Given the description of an element on the screen output the (x, y) to click on. 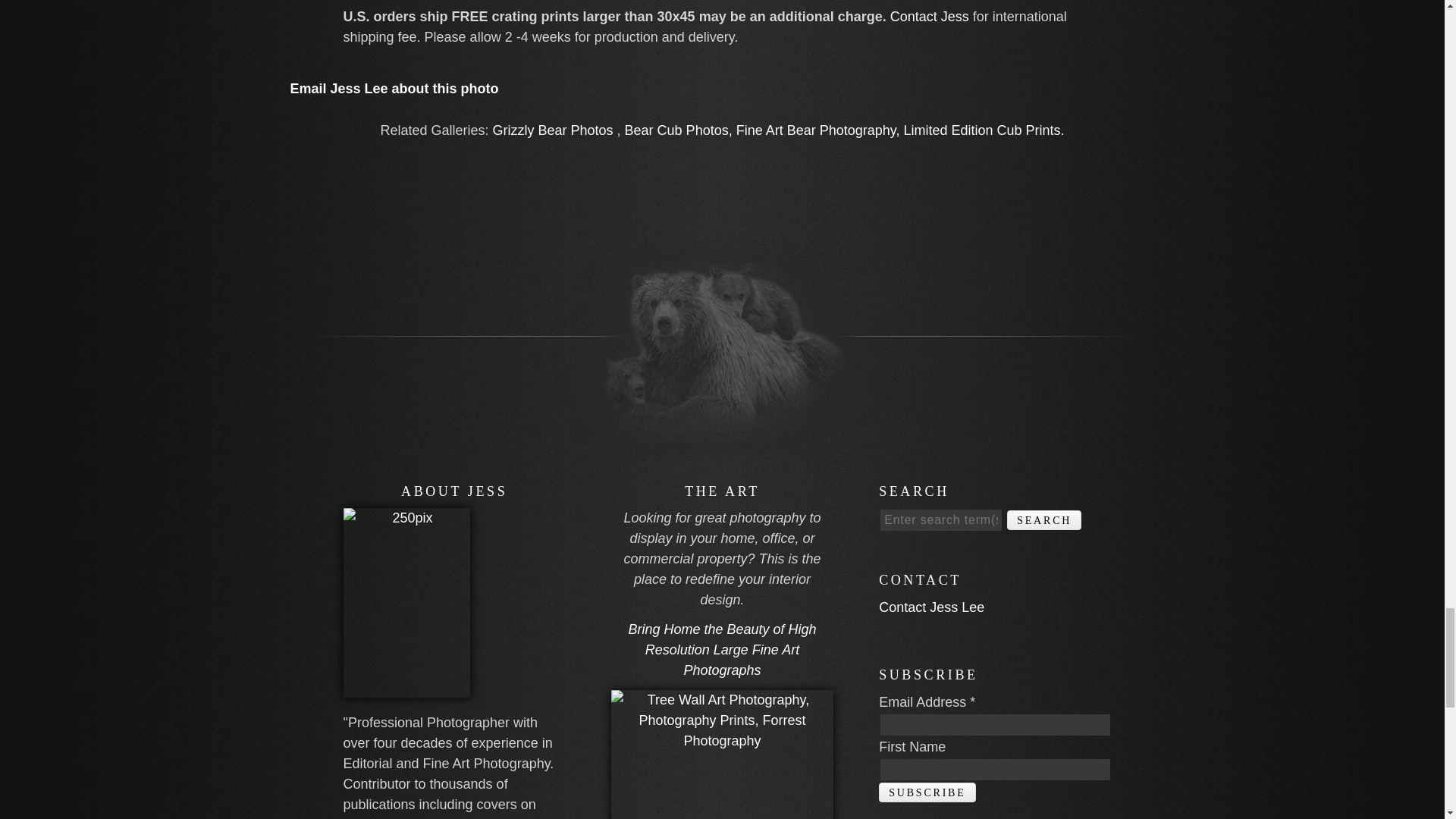
Subscribe (927, 792)
Grizzly Bear Photos (555, 130)
Contact (393, 88)
Email Jess Lee about this photo (393, 88)
Contact Jess (929, 16)
